Given the description of an element on the screen output the (x, y) to click on. 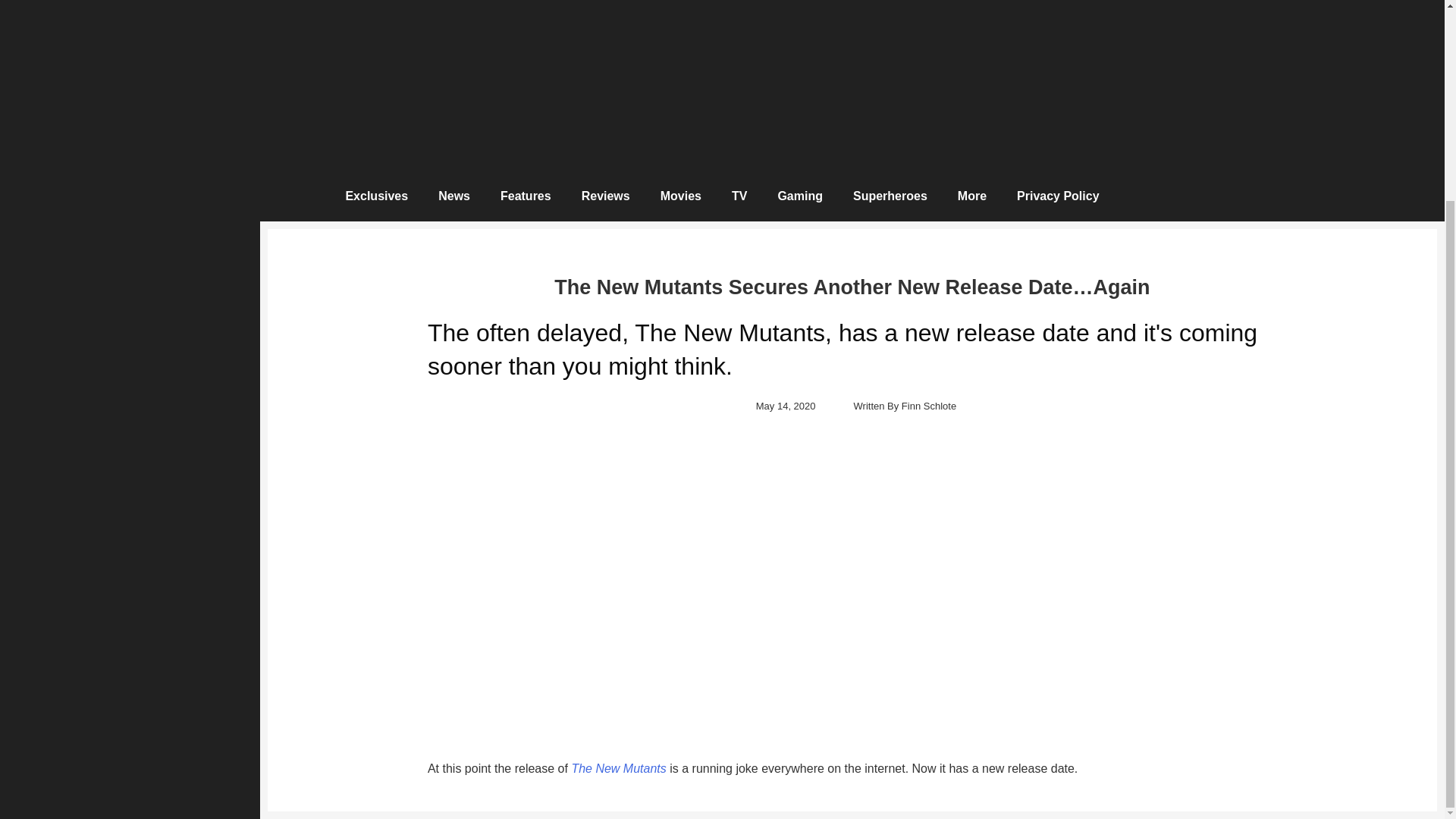
More (971, 196)
Features (525, 196)
Exclusives (376, 196)
Gaming (799, 196)
News (453, 196)
Movies (680, 196)
TV (738, 196)
Superheroes (890, 196)
Privacy Policy (1058, 196)
Reviews (605, 196)
